Given the description of an element on the screen output the (x, y) to click on. 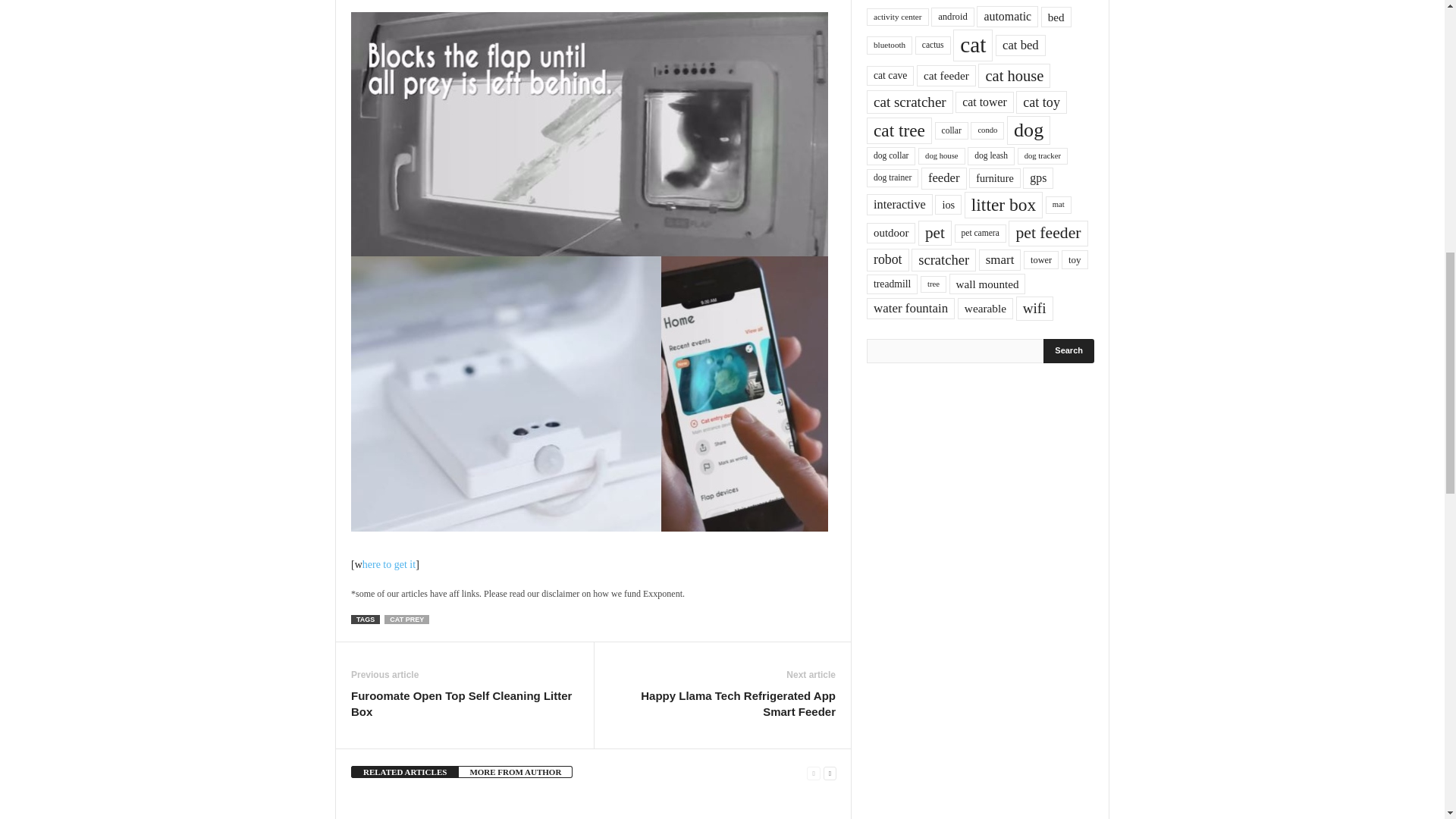
Search (1068, 351)
